Given the description of an element on the screen output the (x, y) to click on. 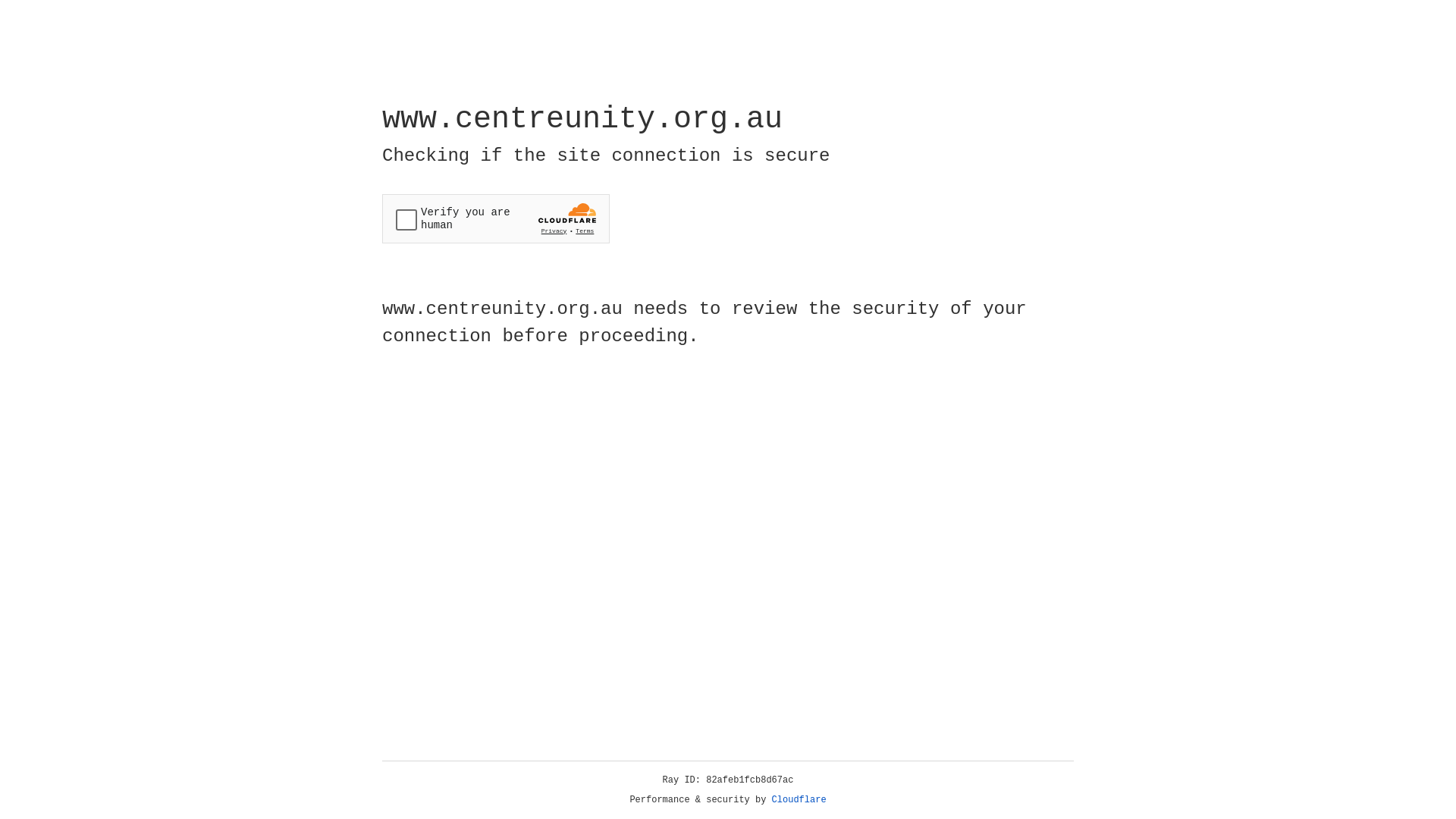
Widget containing a Cloudflare security challenge Element type: hover (495, 218)
Cloudflare Element type: text (798, 799)
